Given the description of an element on the screen output the (x, y) to click on. 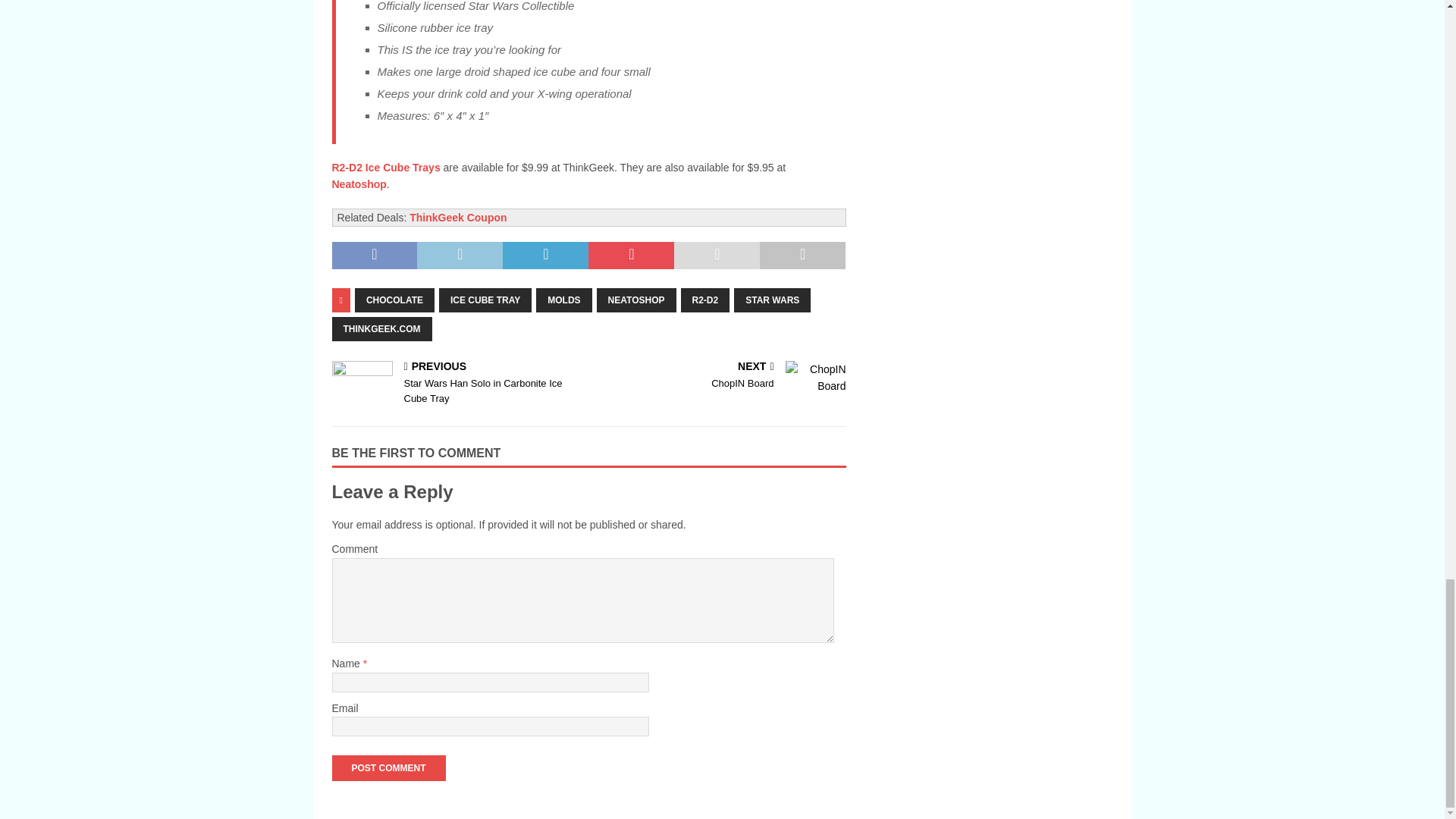
Post Comment (388, 768)
